Given the description of an element on the screen output the (x, y) to click on. 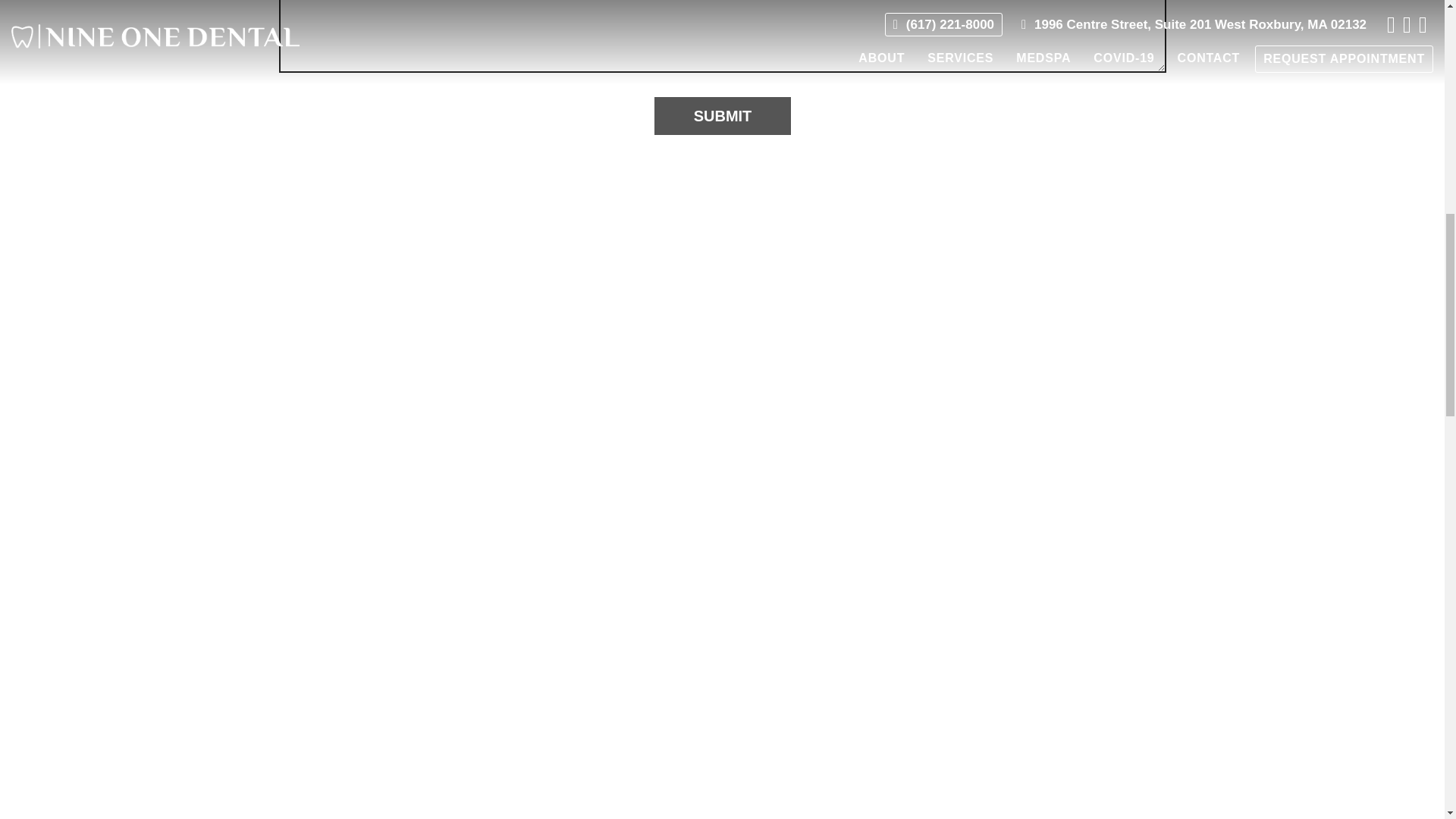
Submit (721, 116)
